Given the description of an element on the screen output the (x, y) to click on. 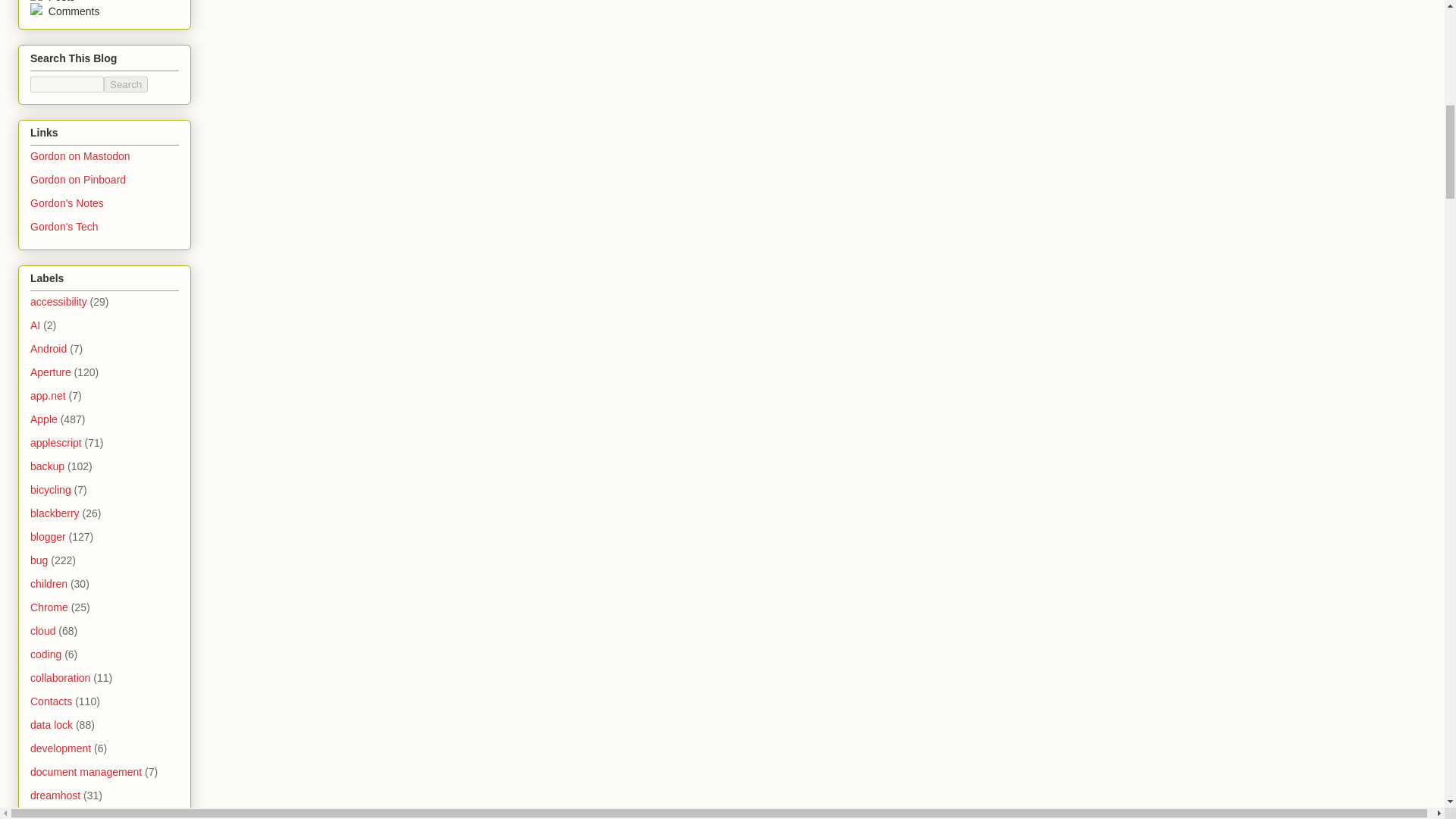
Gordon on Mastodon (80, 155)
Apple (44, 419)
Gordon's Notes (66, 203)
Search (125, 84)
bicycling (50, 490)
search (66, 84)
applescript (55, 442)
search (125, 84)
Android (48, 348)
app.net (47, 395)
Gordon on Pinboard (77, 179)
Search (125, 84)
Gordon's Tech (64, 226)
Aperture (50, 372)
backup (47, 466)
